Given the description of an element on the screen output the (x, y) to click on. 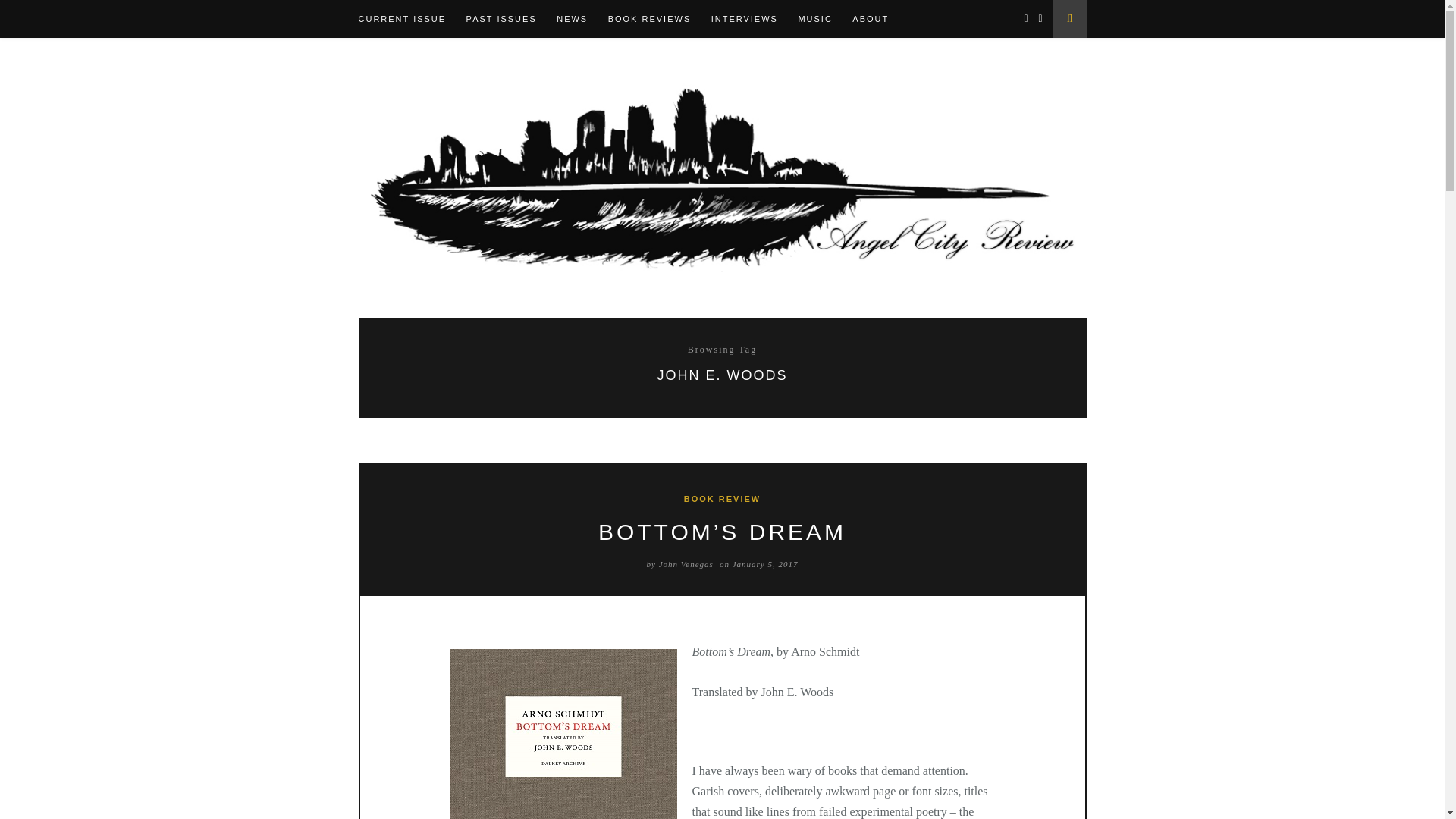
BOOK REVIEWS (657, 18)
MUSIC (822, 18)
PAST ISSUES (509, 18)
NEWS (580, 18)
ABOUT (878, 18)
Posts by John Venegas (686, 563)
CURRENT ISSUE (410, 18)
BOOK REVIEW (722, 499)
INTERVIEWS (752, 18)
